Given the description of an element on the screen output the (x, y) to click on. 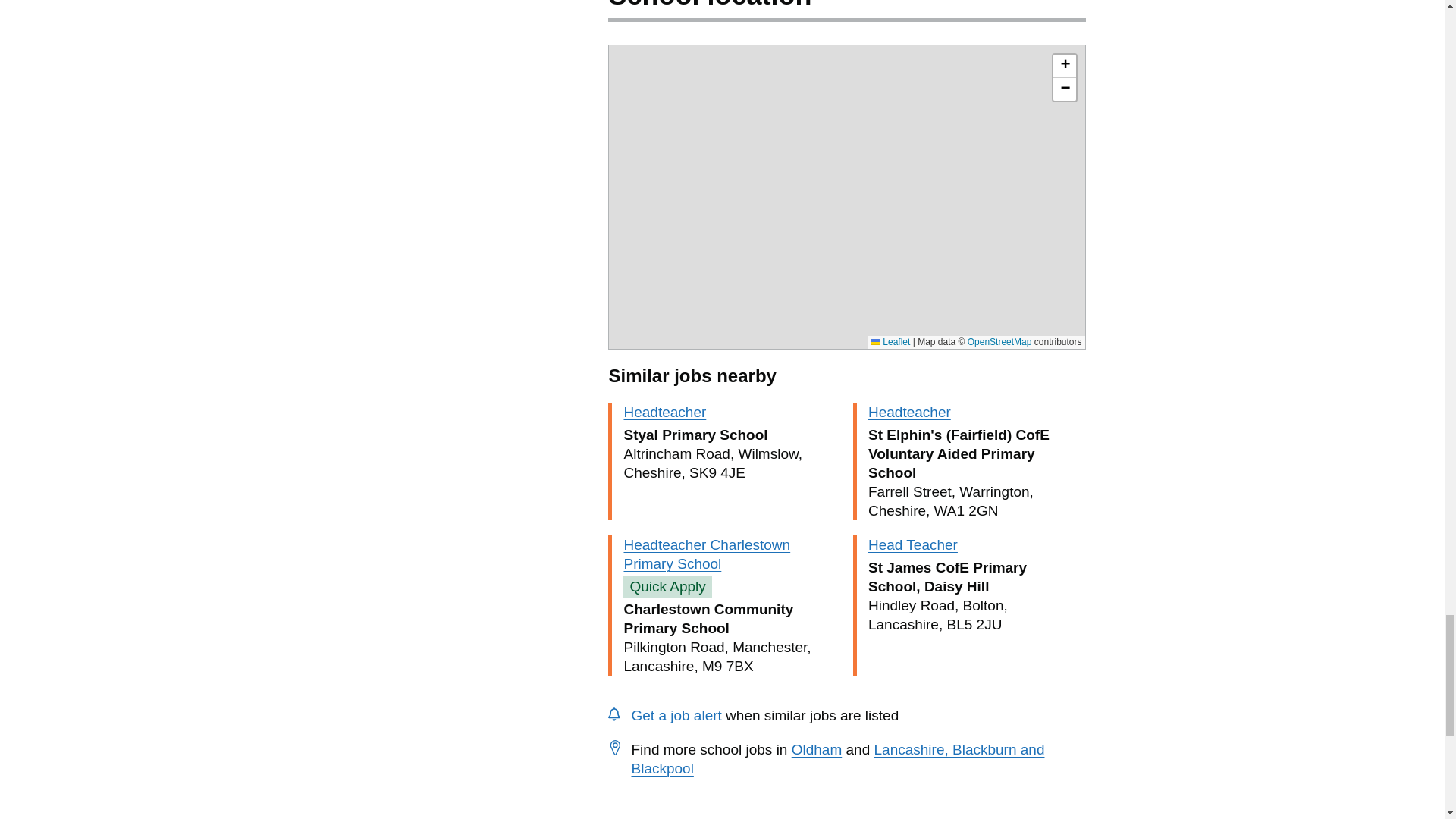
OpenStreetMap (1000, 341)
Headteacher Charlestown Primary School (706, 554)
Headteacher (908, 412)
Headteacher (664, 412)
A JavaScript library for interactive maps (890, 341)
Head Teacher (912, 544)
Leaflet (890, 341)
Get a job alert (675, 715)
Lancashire, Blackburn and Blackpool (836, 759)
Zoom out (1063, 88)
Oldham (817, 749)
Zoom in (1063, 65)
